Given the description of an element on the screen output the (x, y) to click on. 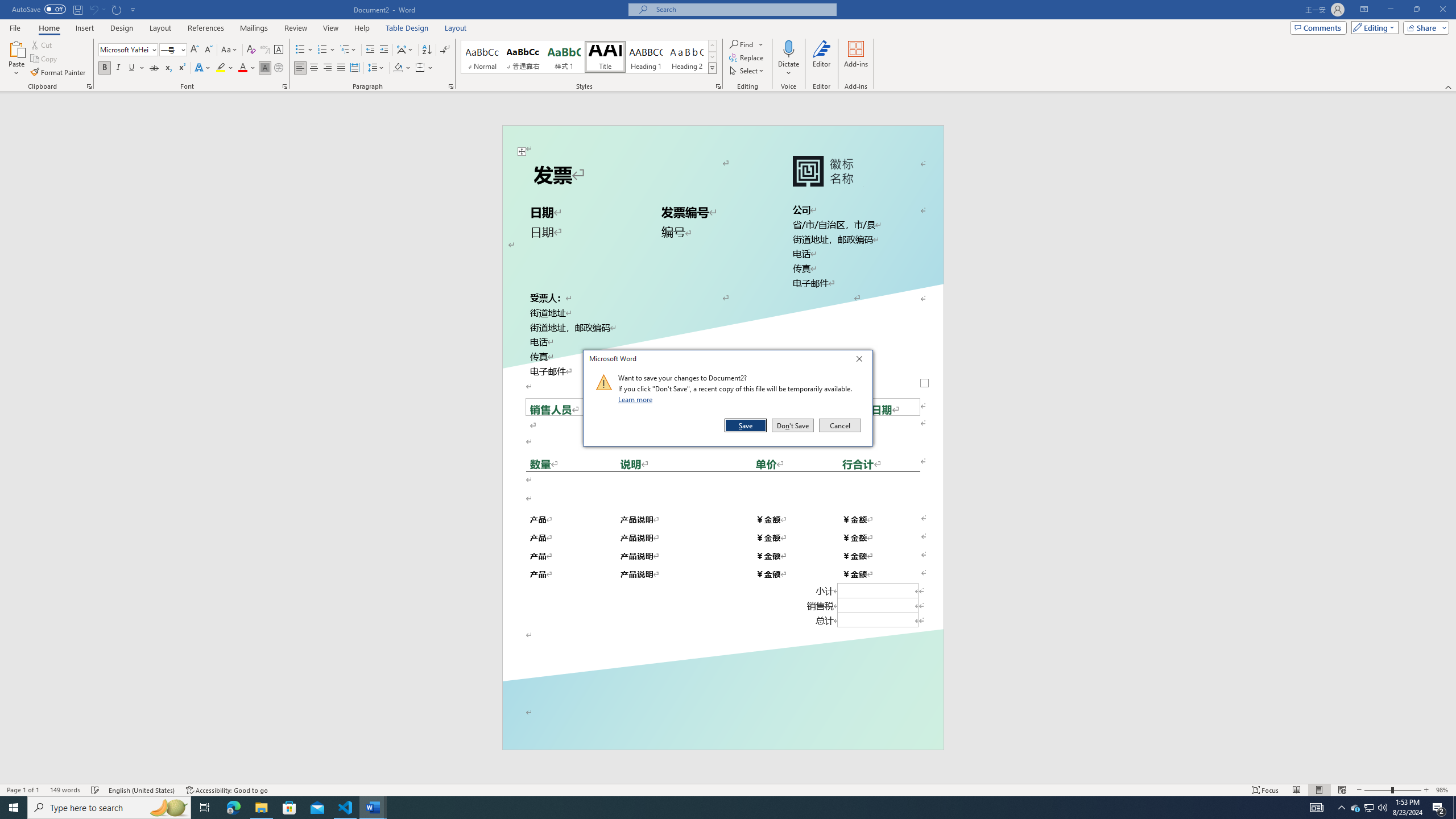
Center (313, 67)
Help (361, 28)
Character Border (278, 49)
Borders (419, 67)
Accessibility Checker Accessibility: Good to go (227, 790)
Class: NetUIImage (603, 382)
Distributed (354, 67)
Open (182, 49)
File Explorer - 1 running window (261, 807)
Superscript (180, 67)
Microsoft Edge (233, 807)
View (330, 28)
Line and Paragraph Spacing (376, 67)
